Given the description of an element on the screen output the (x, y) to click on. 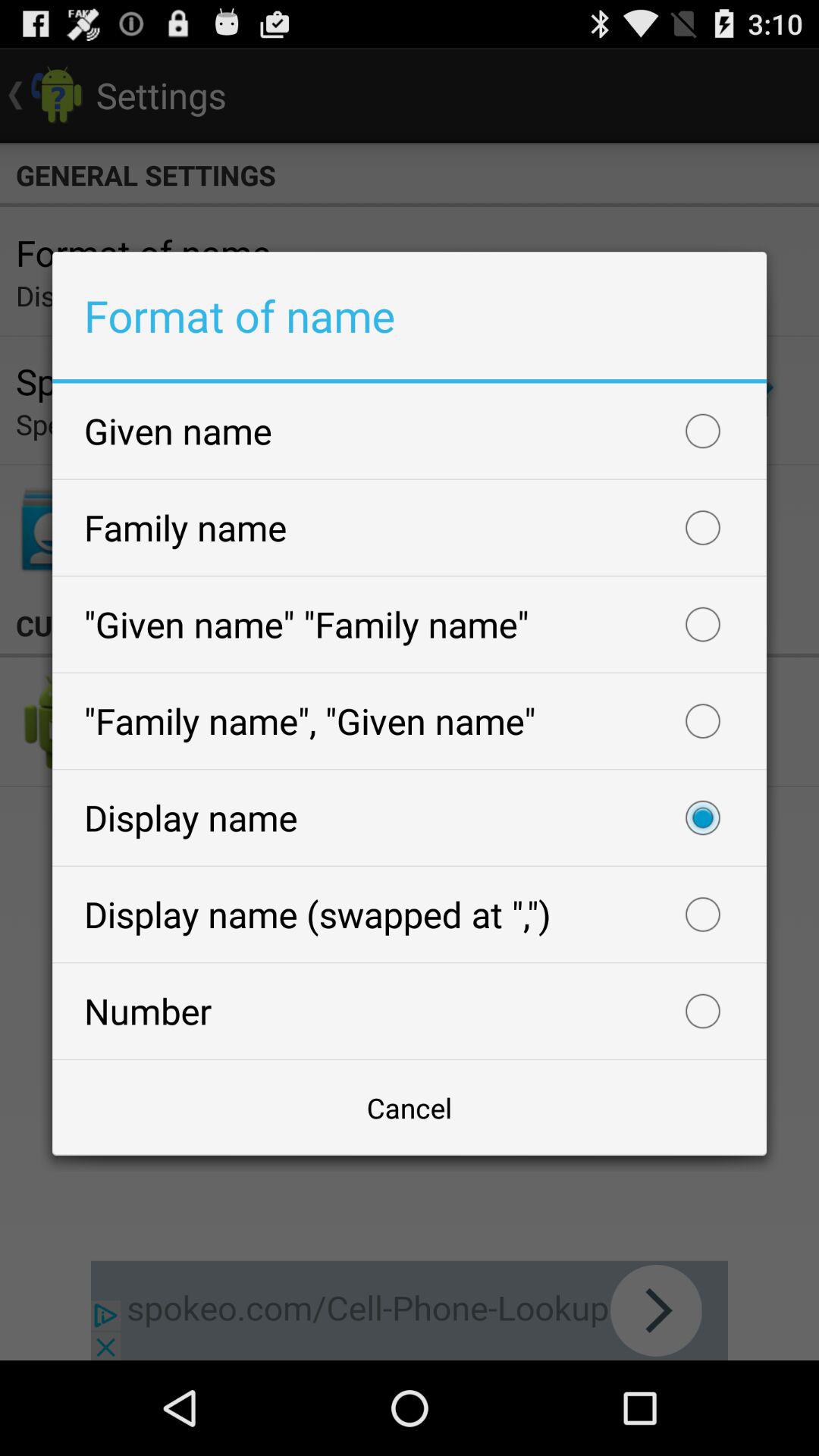
swipe until the cancel (409, 1107)
